Given the description of an element on the screen output the (x, y) to click on. 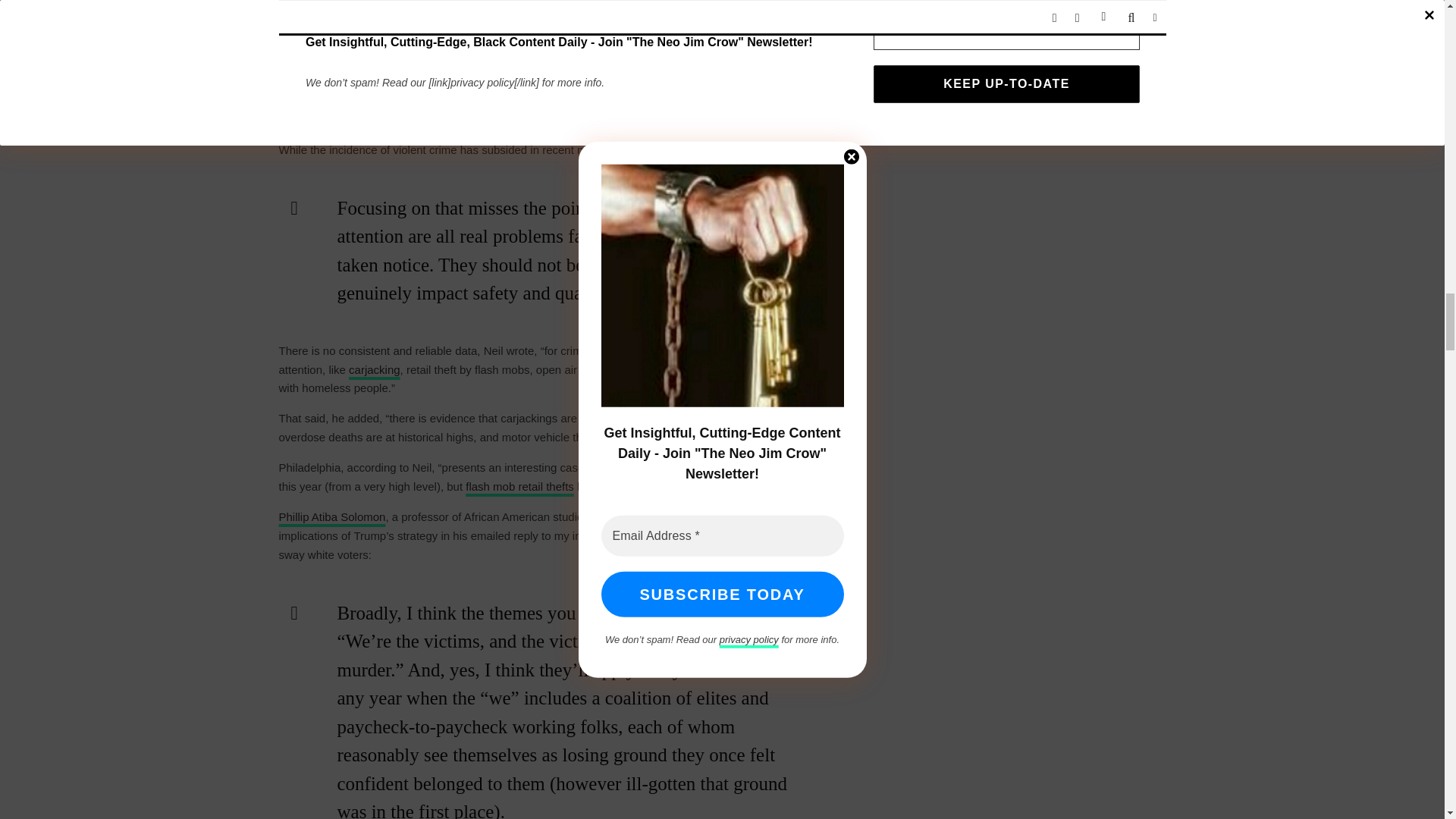
Phillip Atiba Solomon (332, 516)
flash mob retail thefts (519, 486)
carjacking (374, 369)
